Given the description of an element on the screen output the (x, y) to click on. 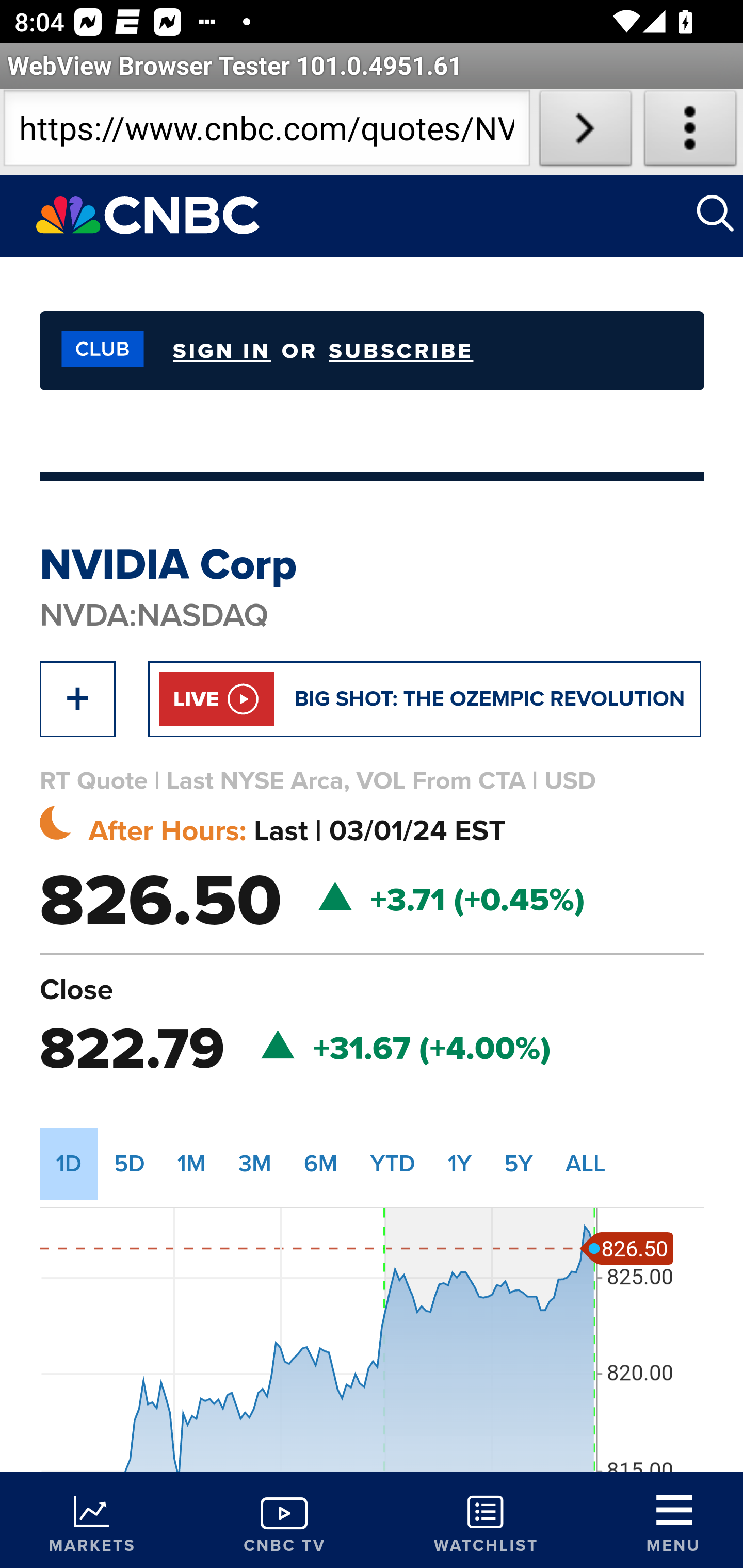
Load URL (585, 132)
About WebView (690, 132)
investingclub (97, 350)
SIGN IN (221, 349)
SUBSCRIBE (401, 350)
+ (77, 698)
LIVE Watch live logo LIVE Watch live logo (216, 698)
BIG SHOT: THE OZEMPIC REVOLUTION (490, 698)
1D (68, 1163)
5D (129, 1163)
1M (191, 1163)
3M (254, 1163)
6M (320, 1163)
YTD (392, 1163)
1Y (458, 1163)
5Y (518, 1163)
ALL (585, 1163)
 MARKETS  MARKETS (91, 1519)
 CNBC TV  CNBC TV (284, 1519)
 WATCHLIST  WATCHLIST (486, 1519)
Open Navigation Menu (673, 1523)
